Given the description of an element on the screen output the (x, y) to click on. 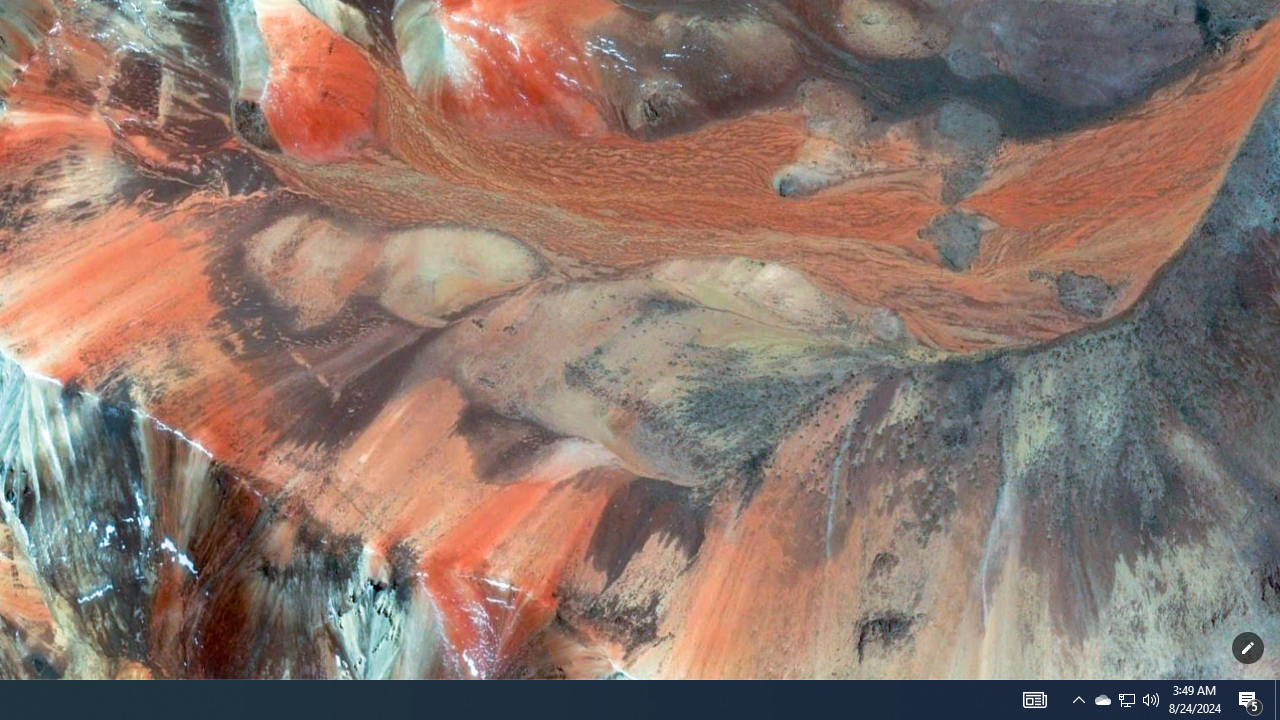
Customize this page (1247, 647)
